Given the description of an element on the screen output the (x, y) to click on. 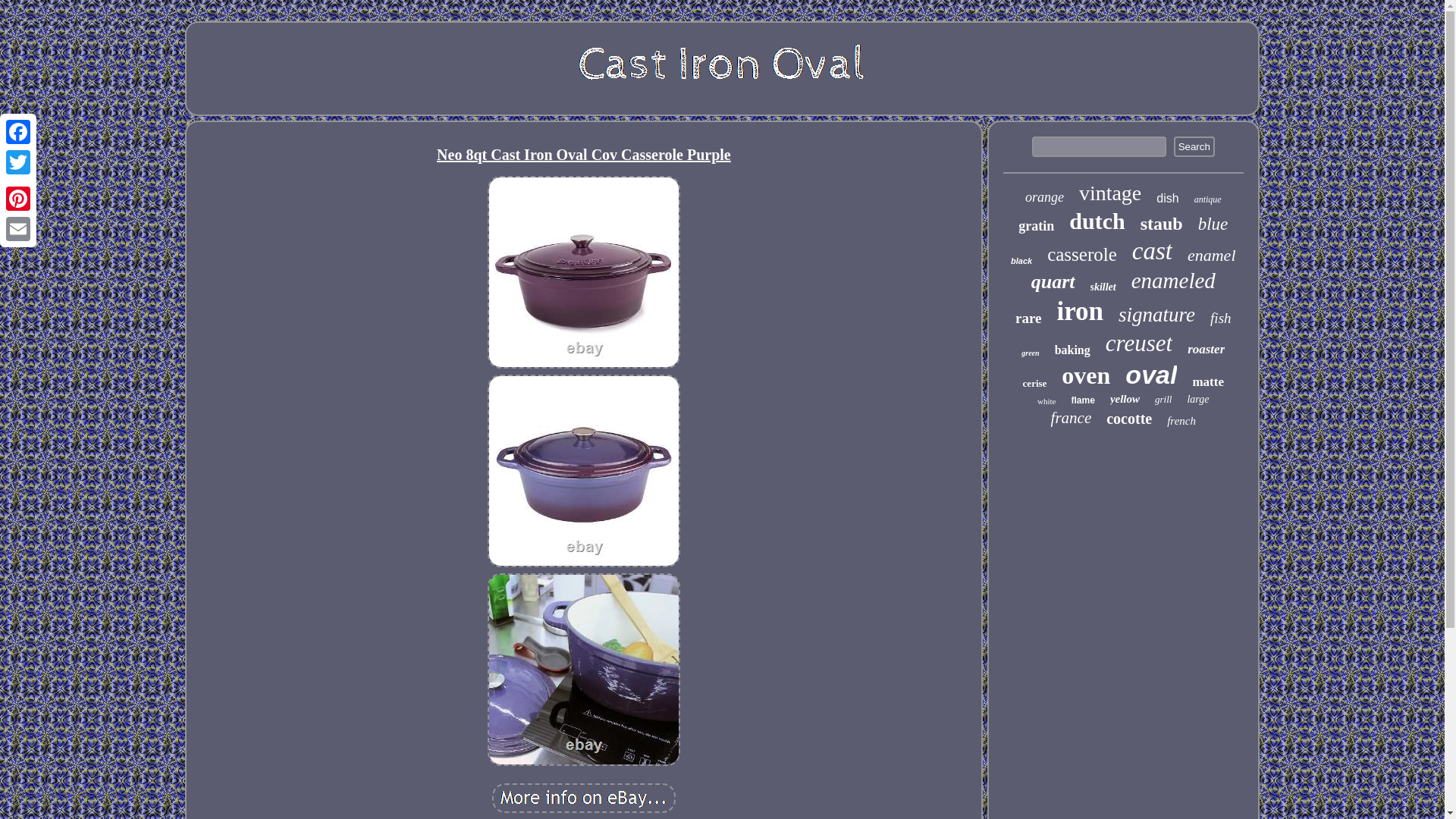
dish (1166, 198)
casserole (1081, 254)
baking (1072, 350)
Neo 8qt Cast Iron Oval Cov Casserole Purple (583, 272)
iron (1080, 311)
quart (1052, 282)
Search (1193, 146)
vintage (1109, 192)
Neo 8qt Cast Iron Oval Cov Casserole Purple (583, 797)
dutch (1096, 221)
Neo 8qt Cast Iron Oval Cov Casserole Purple (583, 669)
Pinterest (17, 198)
antique (1207, 199)
Email (17, 228)
